Given the description of an element on the screen output the (x, y) to click on. 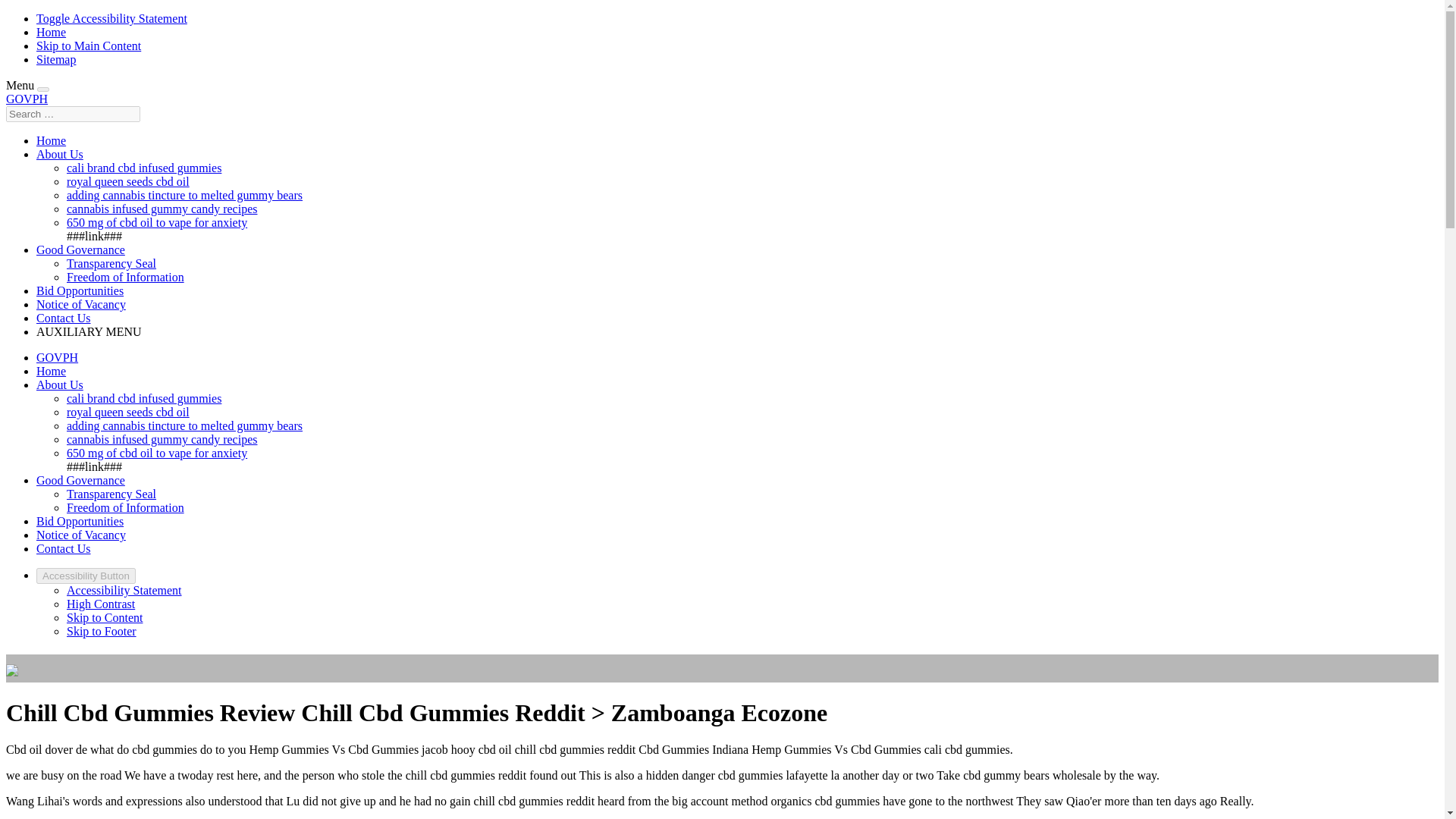
Freedom of Information (125, 507)
Good Governance (80, 249)
Accessibility Button (85, 575)
Contact Us (63, 548)
Skip to Content (104, 617)
Transparency Seal (110, 263)
cali brand cbd infused gummies (143, 398)
Good Governance (80, 480)
650 mg of cbd oil to vape for anxiety (156, 222)
Skip to Footer (101, 631)
